Given the description of an element on the screen output the (x, y) to click on. 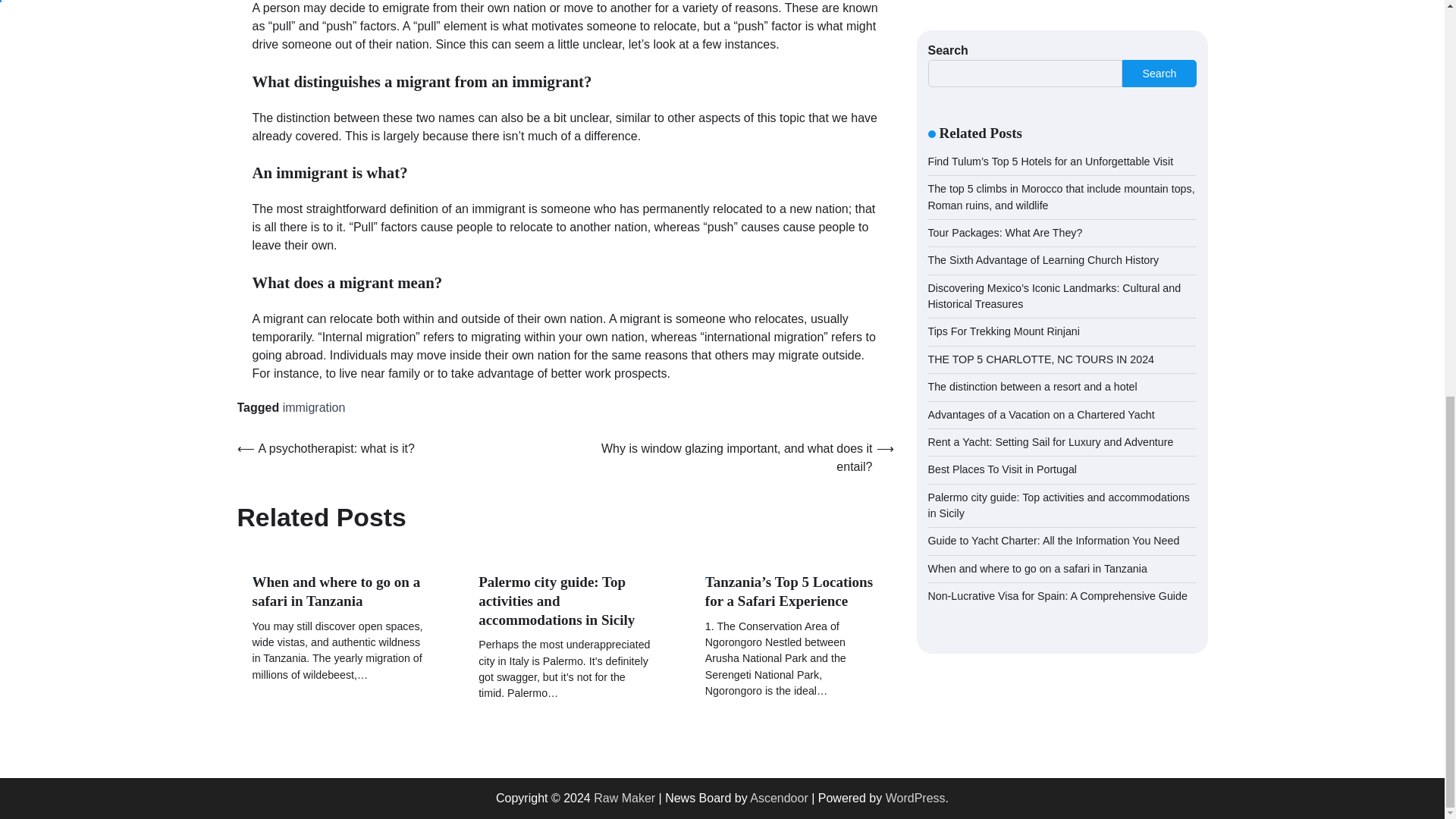
immigration (314, 407)
When and where to go on a safari in Tanzania (335, 591)
Raw Maker (624, 797)
WordPress (914, 797)
Ascendoor (778, 797)
